Given the description of an element on the screen output the (x, y) to click on. 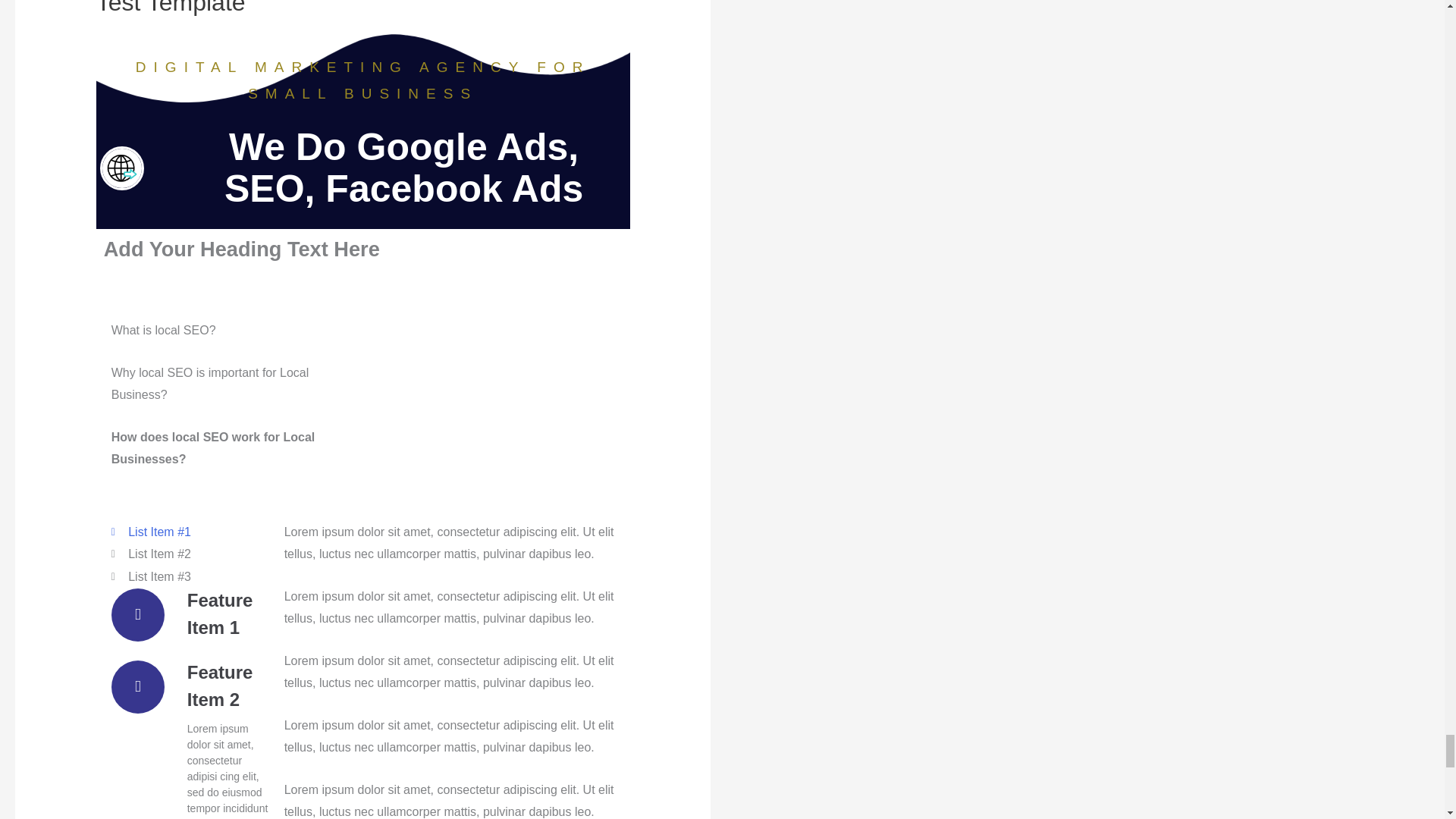
Test Template (171, 7)
